Given the description of an element on the screen output the (x, y) to click on. 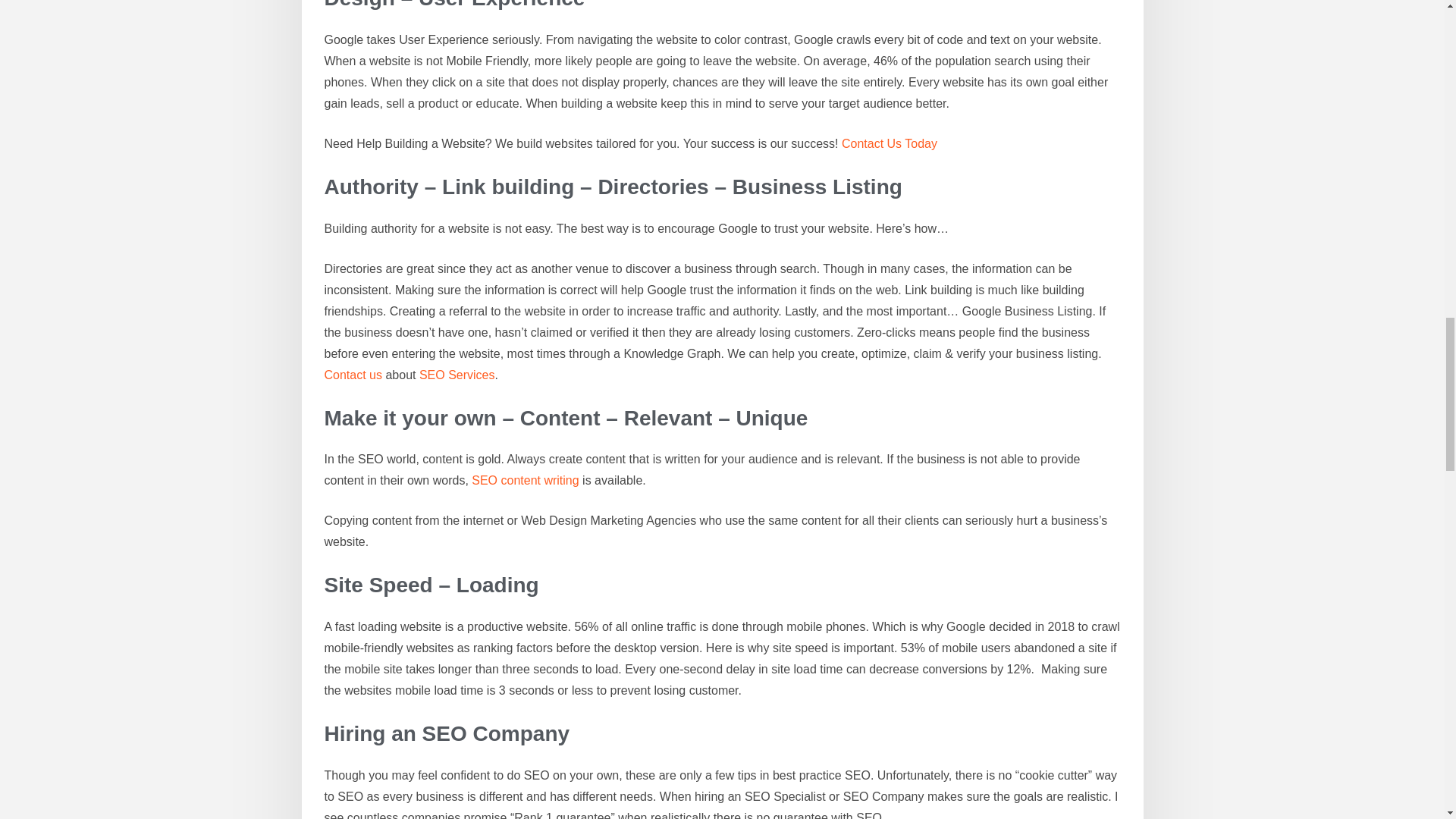
SEO content writing (524, 480)
Contact Us Today (889, 143)
SEO Services (457, 374)
Contact us (352, 374)
